Given the description of an element on the screen output the (x, y) to click on. 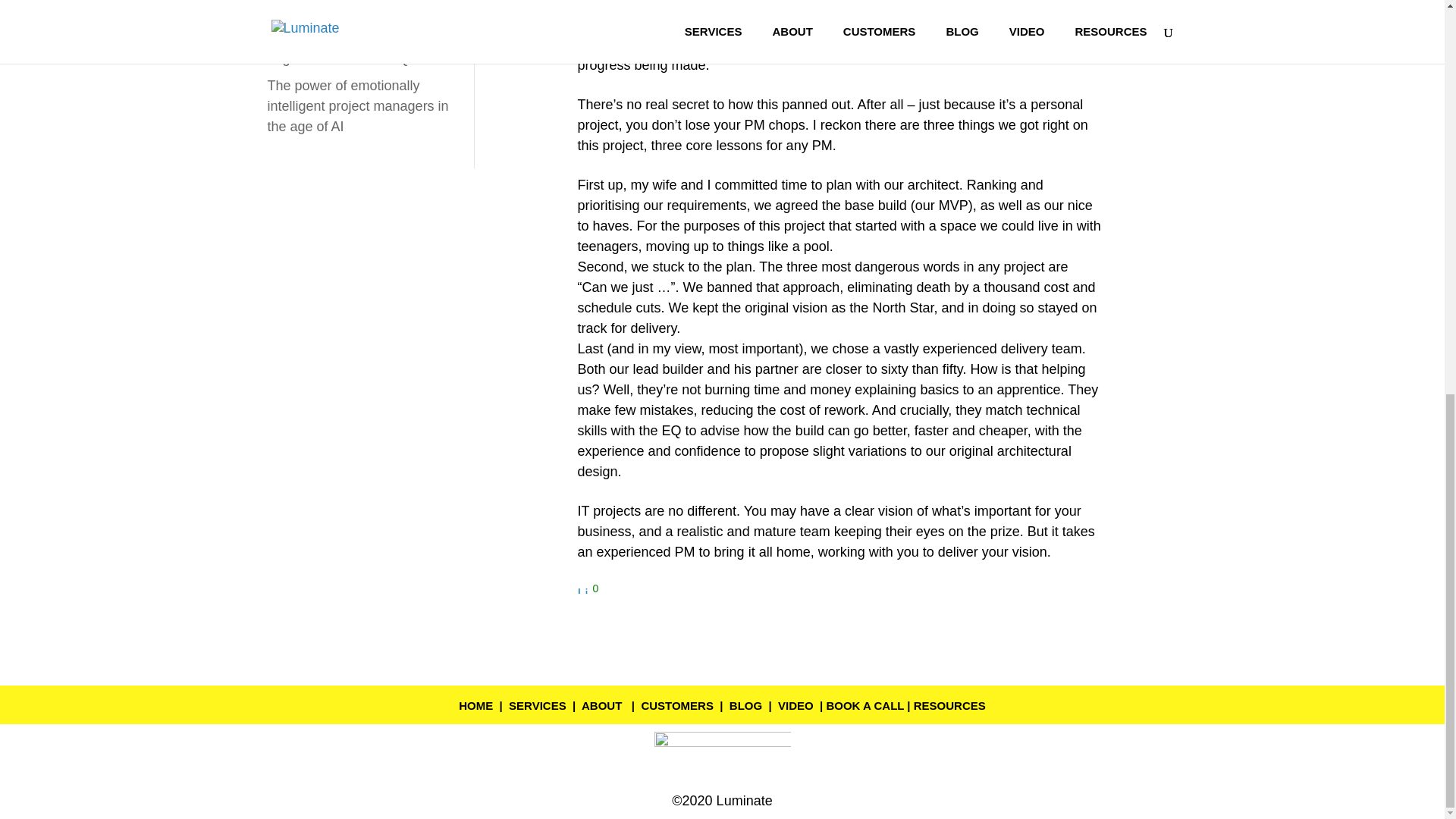
The evolution of project management: embracing power skills (341, 9)
Embrace your competitive edge: The Power of AQ (345, 48)
1hq (721, 756)
